Given the description of an element on the screen output the (x, y) to click on. 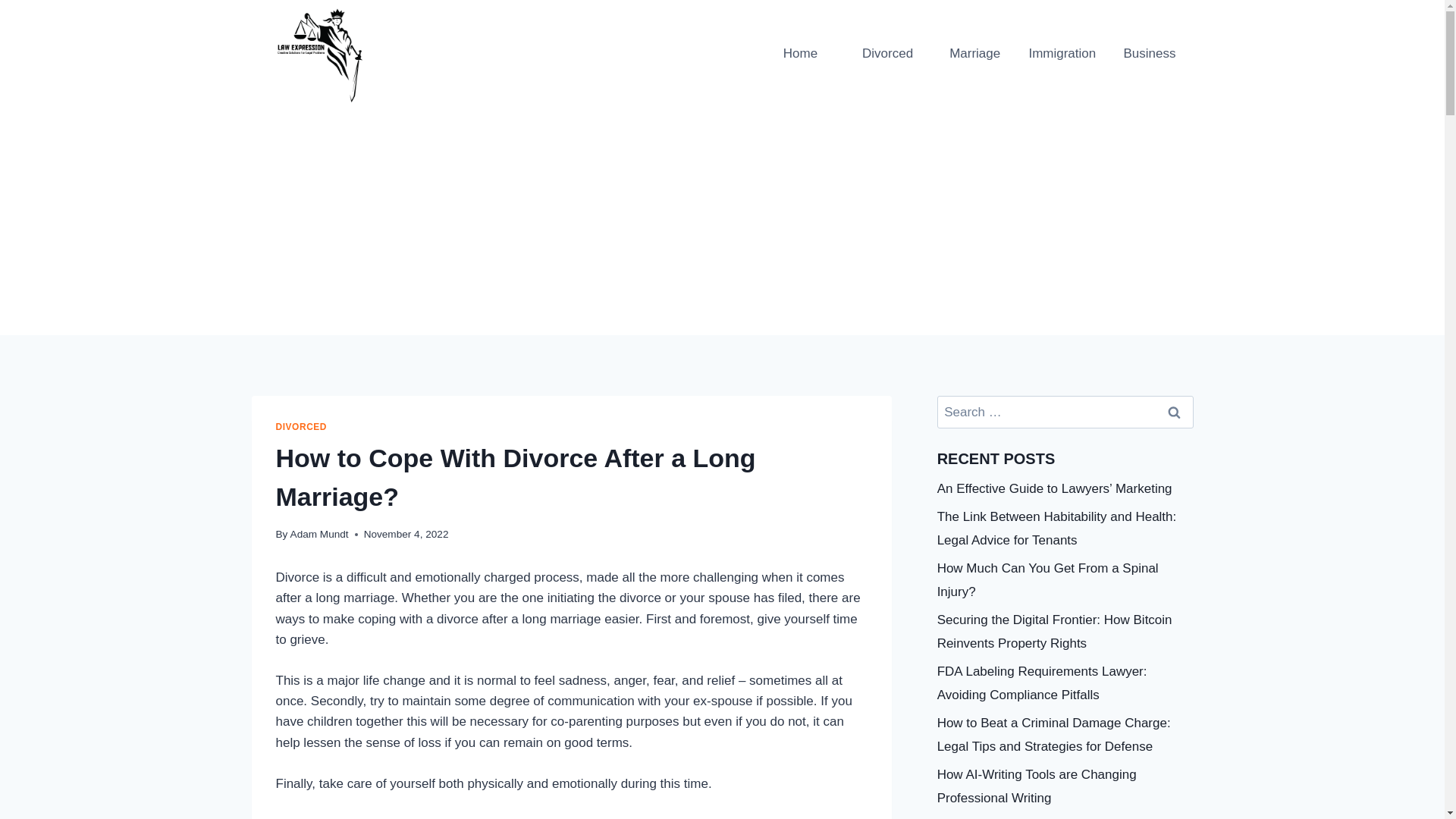
Home (800, 54)
Search (1174, 411)
Divorced (887, 54)
Immigration (1061, 54)
Business (1148, 54)
Search (1174, 411)
Adam Mundt (319, 533)
DIVORCED (301, 426)
Marriage (974, 54)
